Given the description of an element on the screen output the (x, y) to click on. 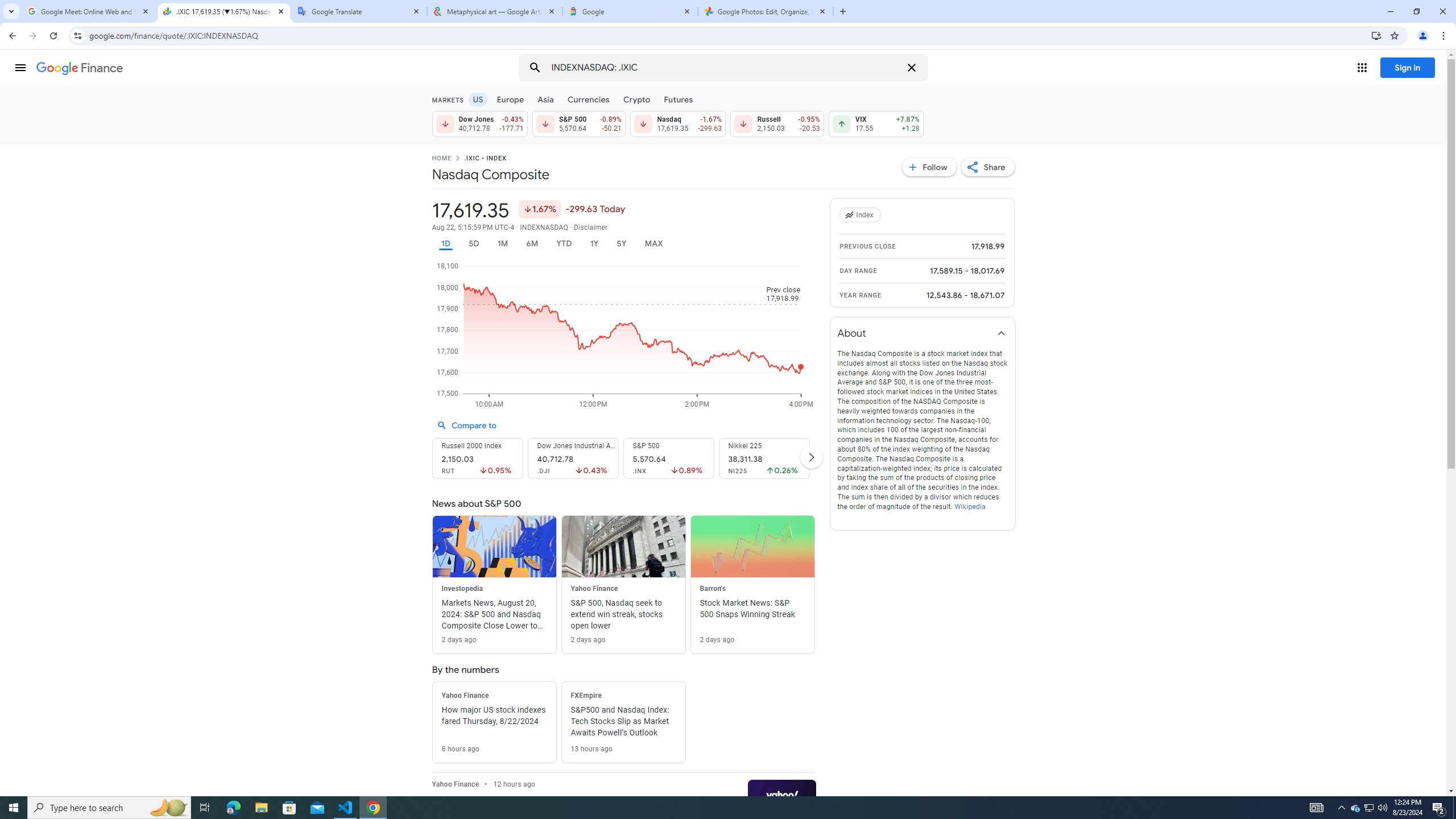
Search for stocks, ETFs & more (724, 67)
